Given the description of an element on the screen output the (x, y) to click on. 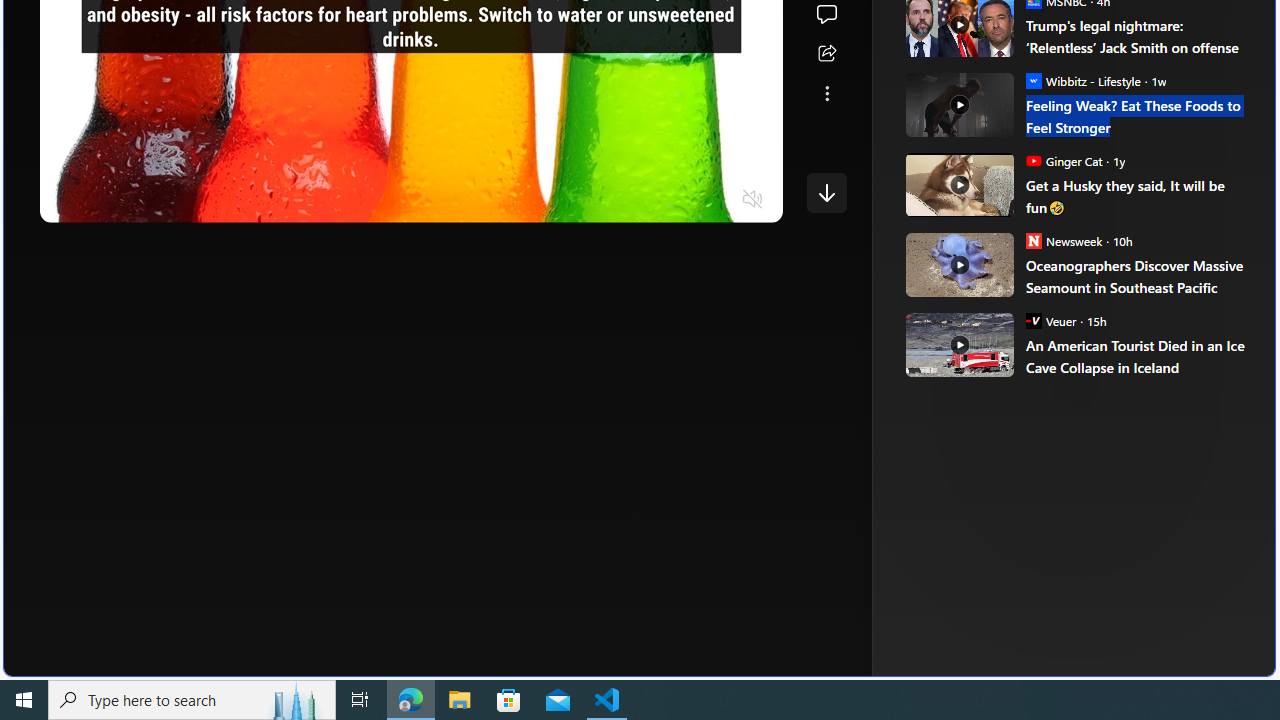
Wibbitz - Lifestyle (1033, 80)
Share this story (826, 53)
Progress Bar (411, 174)
Fullscreen (714, 200)
Quality Settings (634, 200)
Feeling Weak? Eat These Foods to Feel Stronger (958, 104)
Veuer Veuer (1050, 320)
Feeling Weak? Eat These Foods to Feel Stronger (1136, 116)
